Given the description of an element on the screen output the (x, y) to click on. 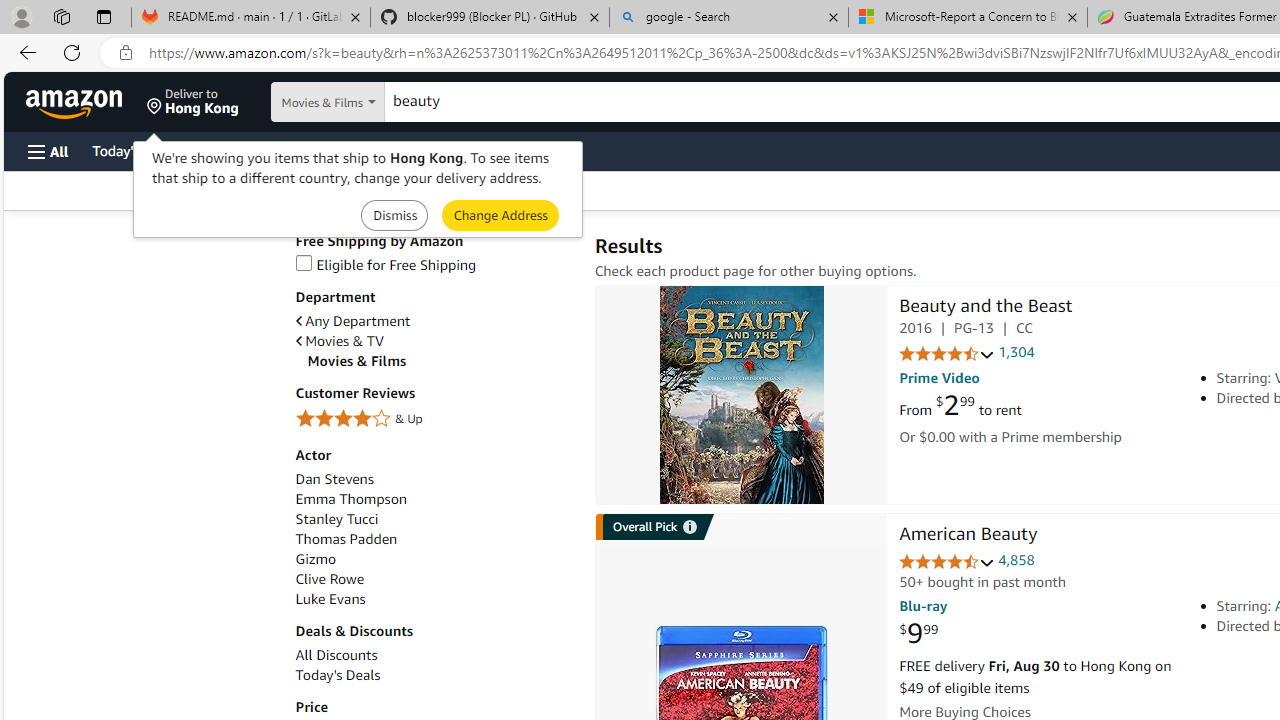
Search in (371, 102)
From $2.99 to rent (959, 406)
Stanley Tucci (434, 519)
American Beauty (968, 535)
Amazon (76, 101)
All Discounts (335, 655)
4.6 out of 5 stars (946, 562)
Movies & TV (434, 340)
Dan Stevens (434, 479)
Stanley Tucci (336, 519)
Thomas Padden (346, 538)
Customer Service (256, 150)
